Given the description of an element on the screen output the (x, y) to click on. 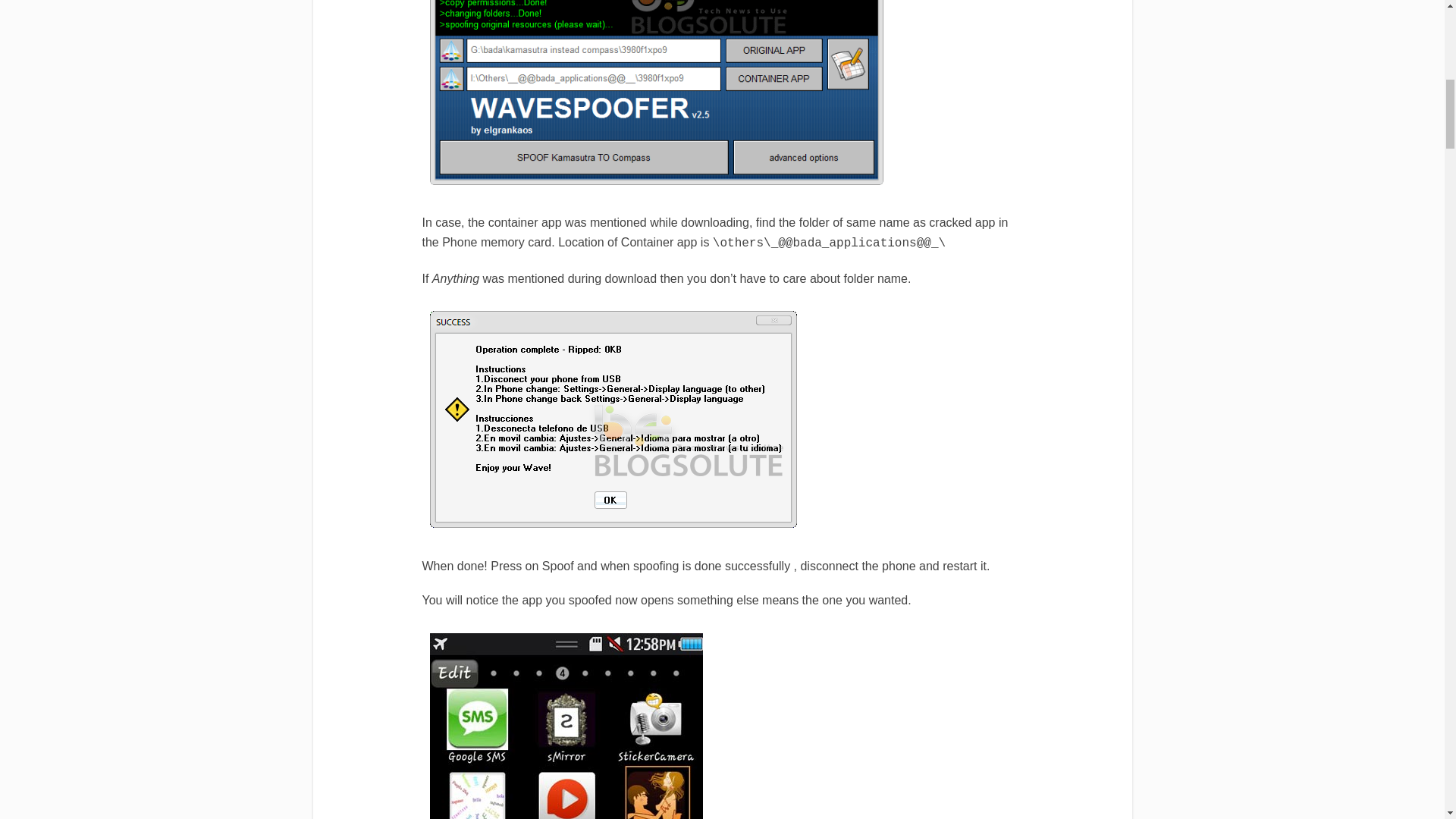
How to Use Wave Spoofer (655, 92)
How to Use Wave Spoofer (565, 726)
How to Use Wave Spoofer (612, 419)
